Given the description of an element on the screen output the (x, y) to click on. 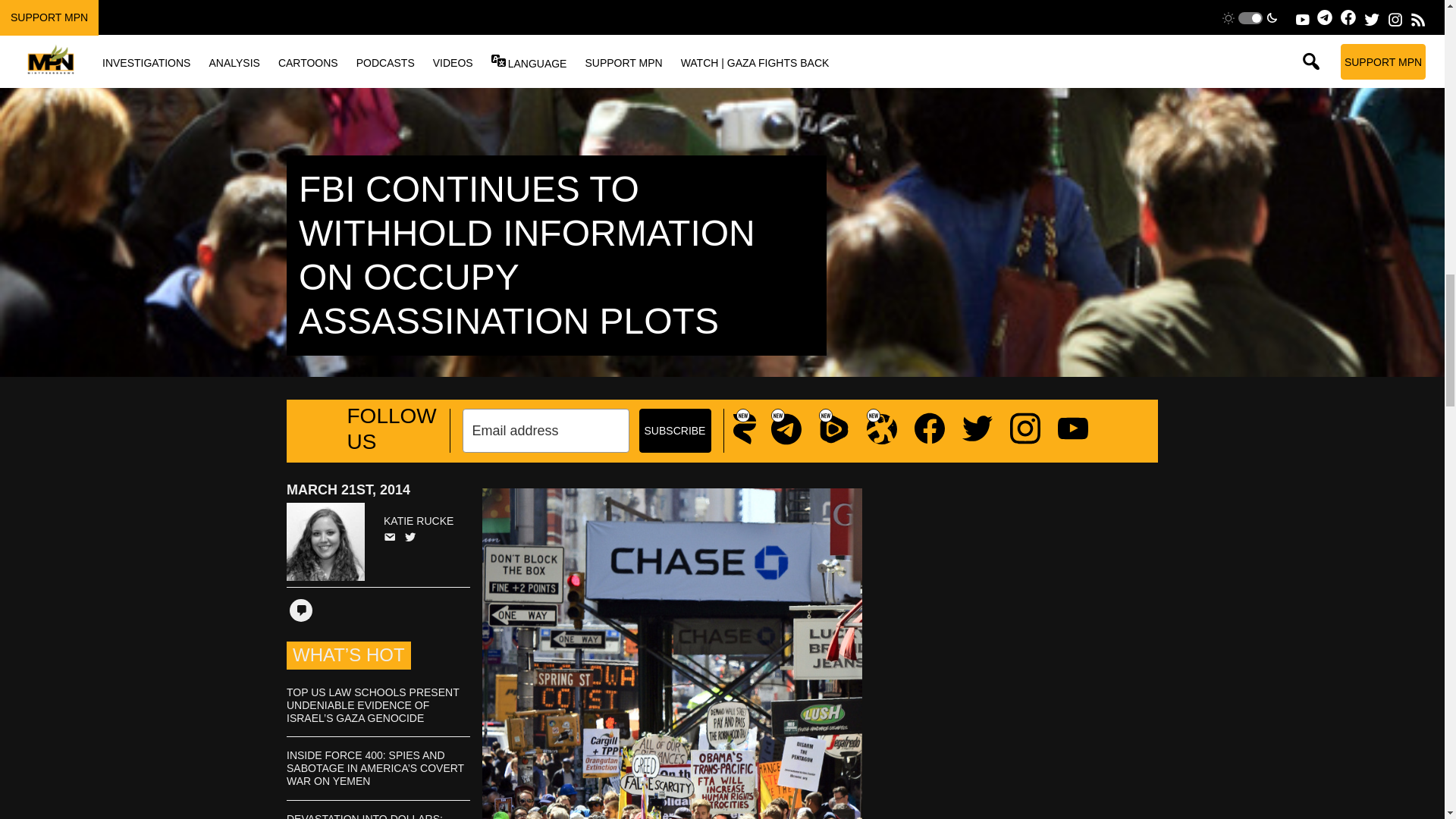
Subscribe (674, 430)
Subscribe (674, 430)
